Given the description of an element on the screen output the (x, y) to click on. 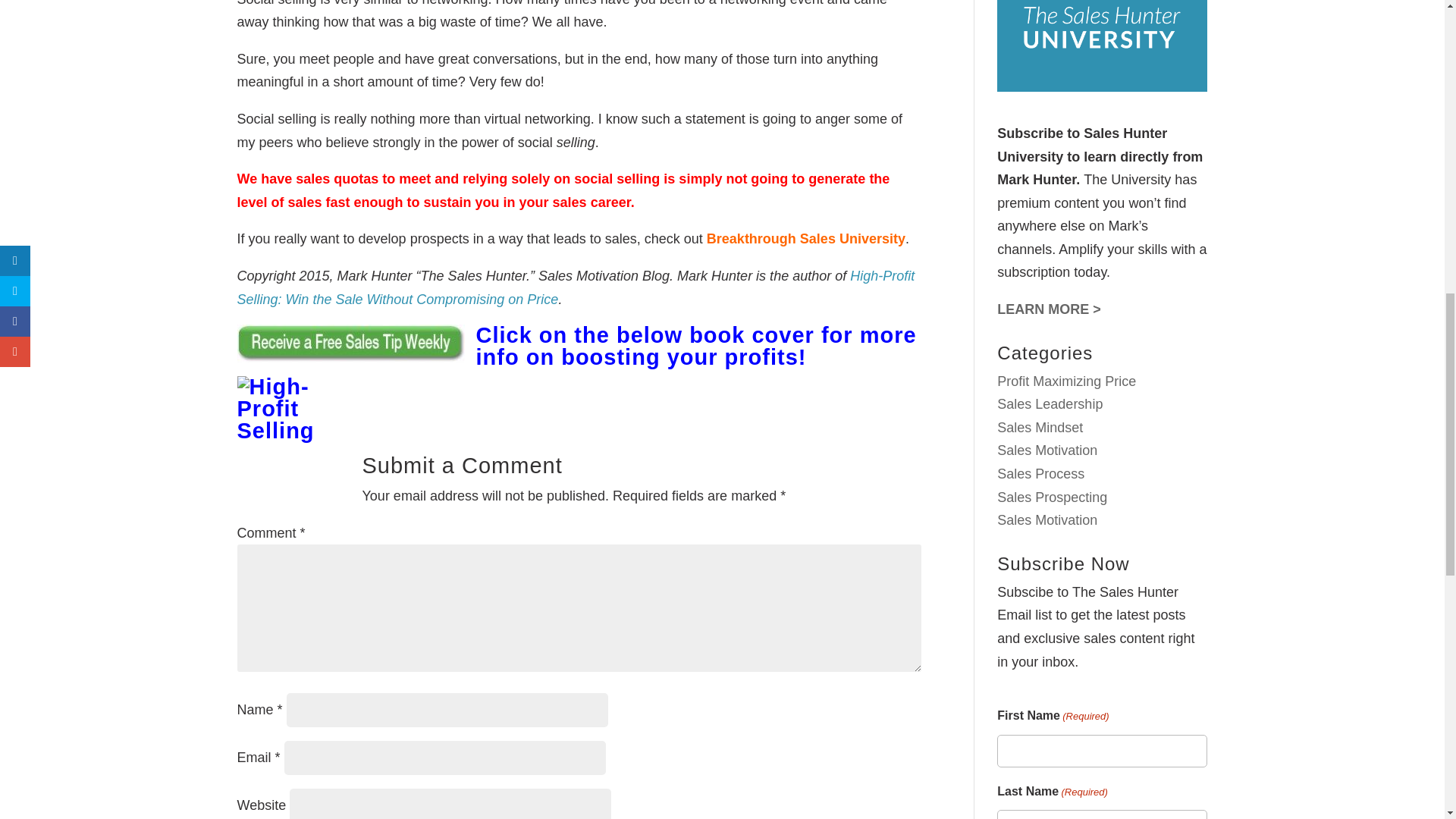
Breakthrough Sales University (805, 238)
Sales Mindset (1040, 427)
Sales Motivation (1047, 450)
Sales Leadership (1049, 403)
Sales Prospecting (1051, 497)
Sales Motivation (1047, 519)
Profit Maximizing Price (1066, 381)
Sales Process (1040, 473)
